Given the description of an element on the screen output the (x, y) to click on. 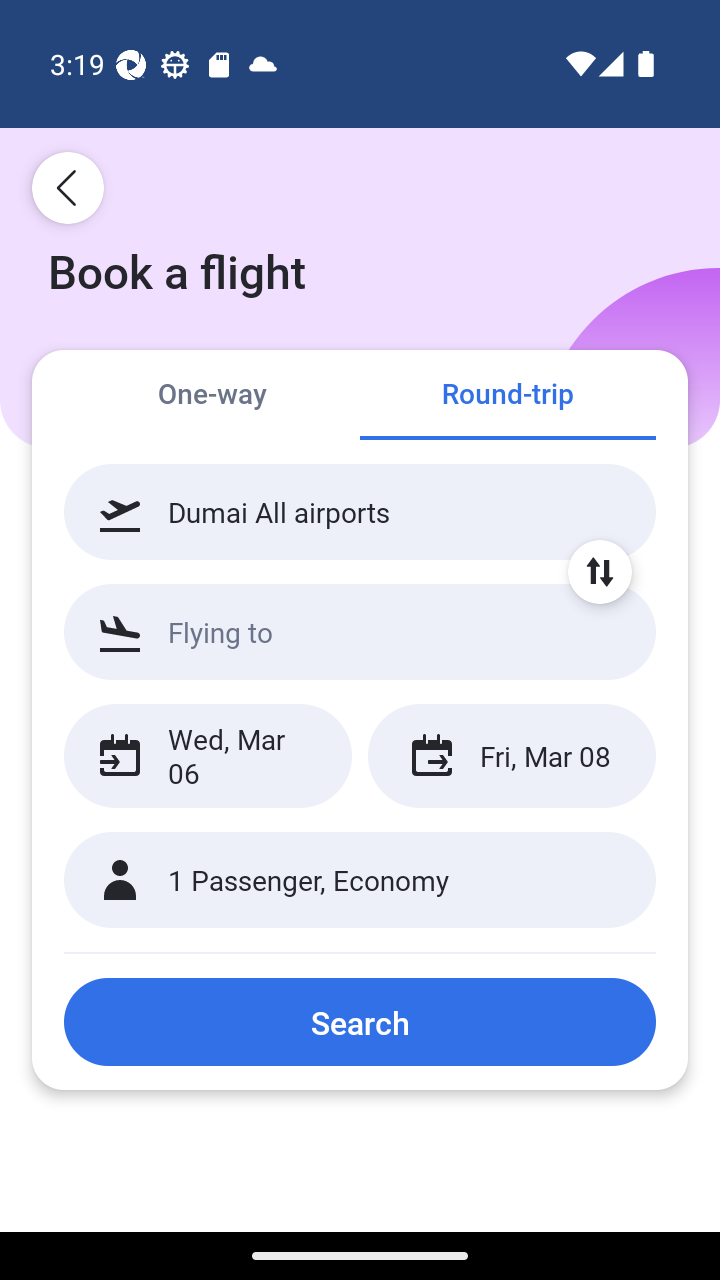
One-way (212, 394)
Dumai All airports (359, 511)
Flying to (359, 631)
Wed, Mar 06 (208, 755)
Fri, Mar 08 (511, 755)
1 Passenger, Economy (359, 880)
Search (359, 1022)
